Given the description of an element on the screen output the (x, y) to click on. 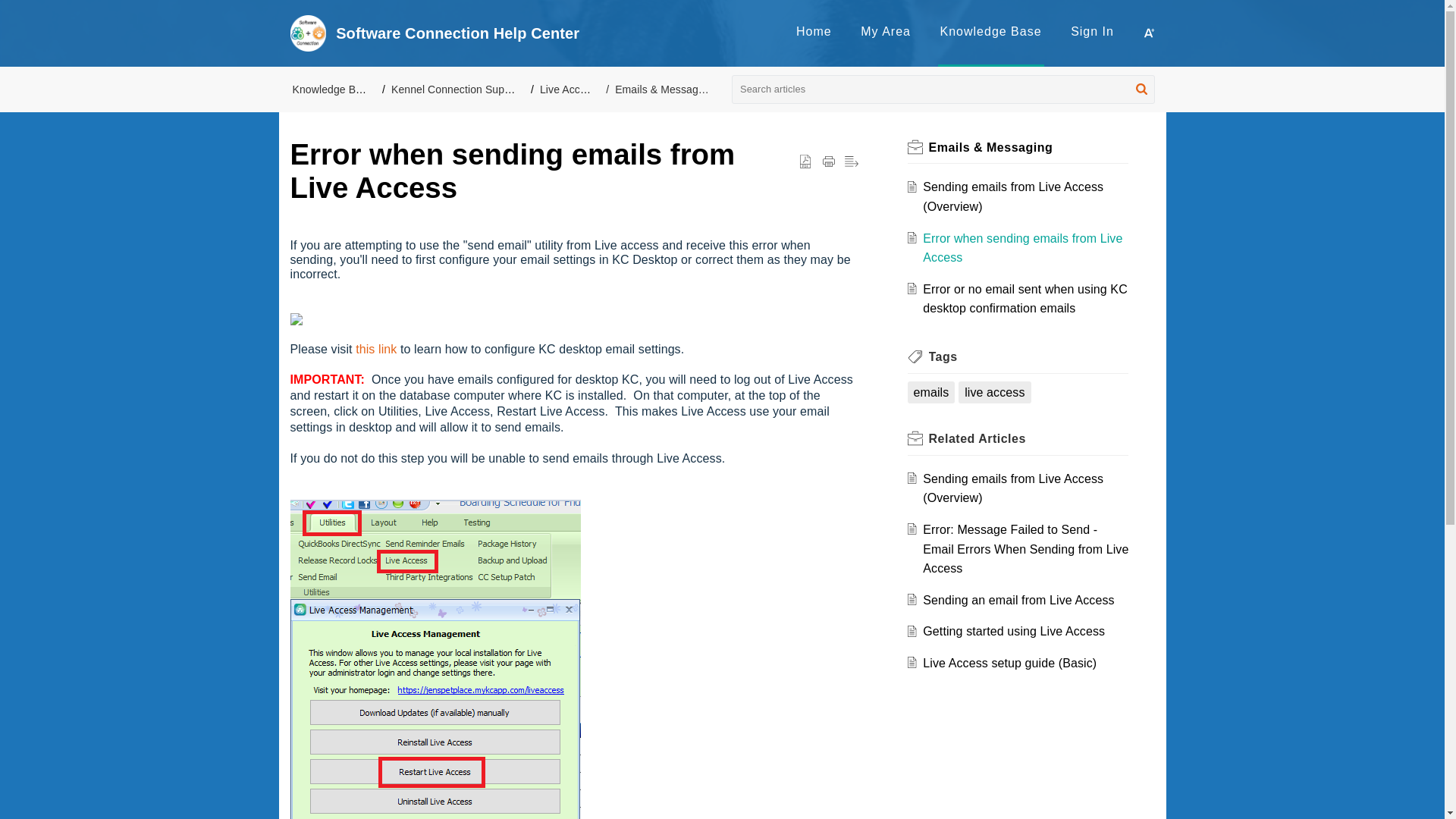
live access (994, 392)
Live Access (568, 89)
Sending an email from Live Access (1018, 599)
emails (930, 392)
Home (813, 31)
this link (375, 349)
Getting started using Live Access (1014, 631)
Home (813, 31)
Knowledge Base (991, 31)
My Area (885, 31)
Knowledge Base (991, 31)
My Area (885, 31)
